Given the description of an element on the screen output the (x, y) to click on. 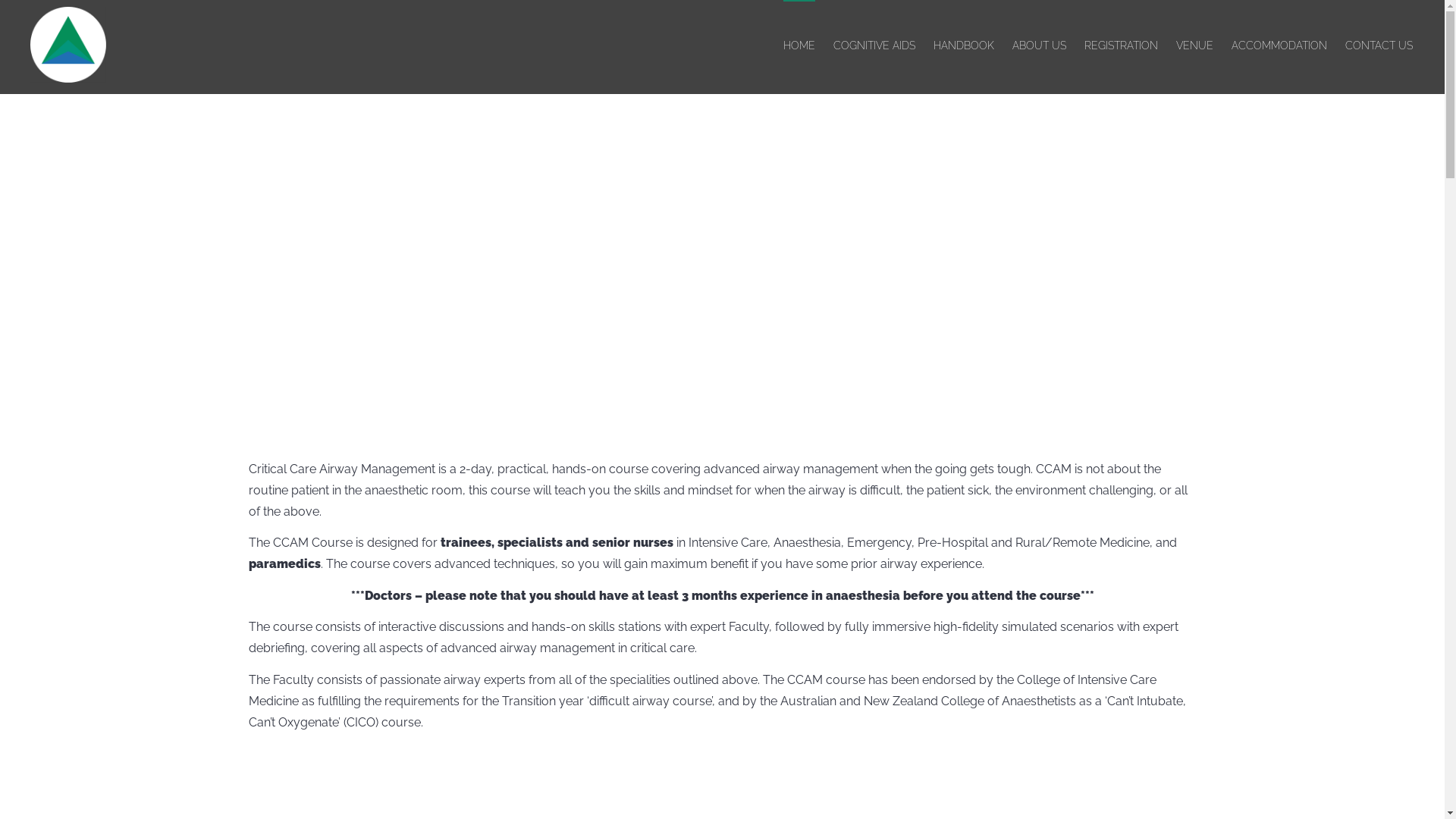
ACCOMMODATION Element type: text (1279, 45)
COGNITIVE AIDS Element type: text (874, 45)
ABOUT US Element type: text (1039, 45)
CONTACT US Element type: text (1378, 45)
HANDBOOK Element type: text (963, 45)
VENUE Element type: text (1194, 45)
HOME Element type: text (799, 45)
REGISTRATION Element type: text (1120, 45)
